Given the description of an element on the screen output the (x, y) to click on. 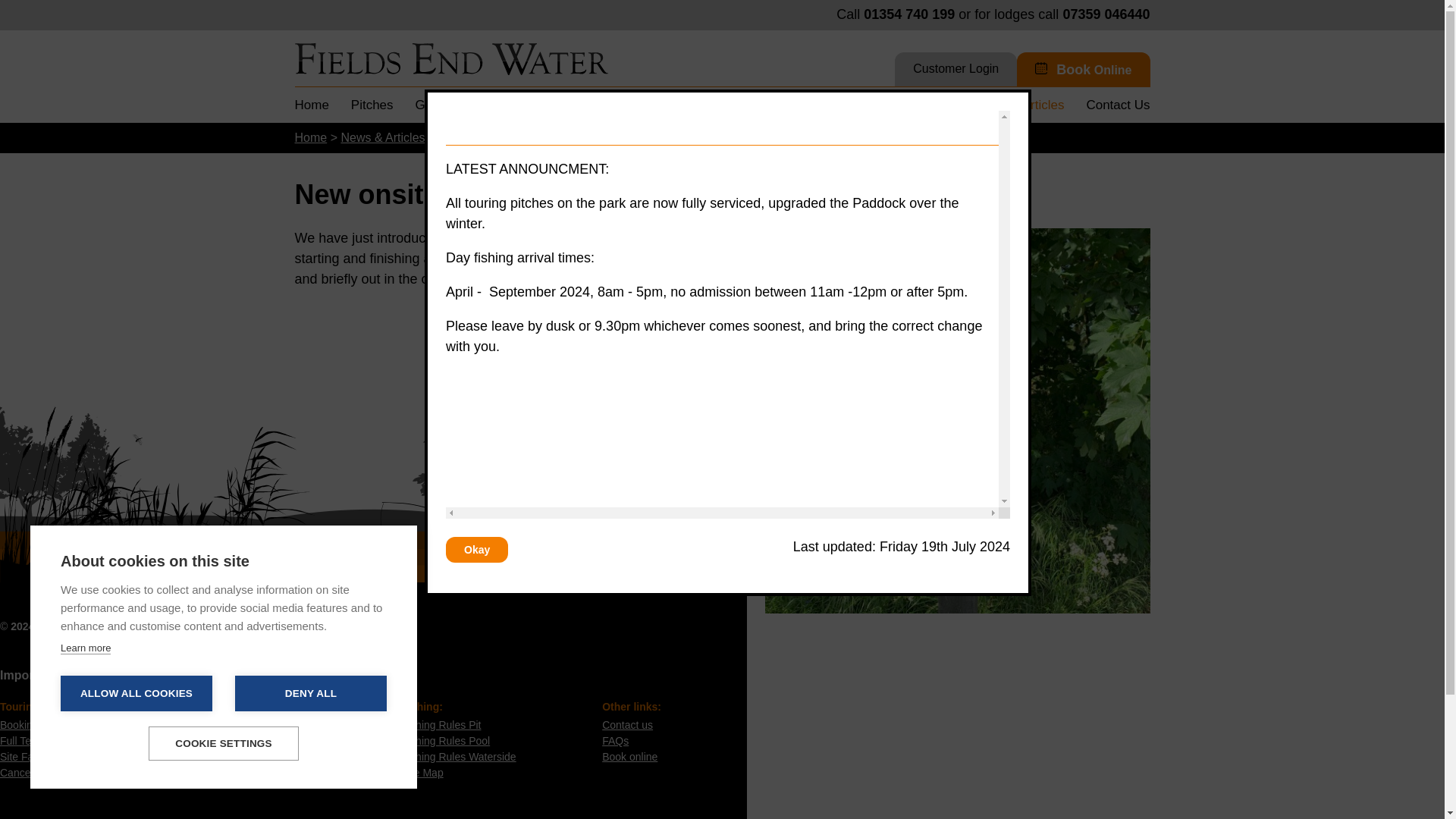
Learn more (85, 648)
Glamping Pods (458, 104)
COOKIE SETTINGS (223, 743)
Privacy Policy (165, 625)
DENY ALL (310, 693)
ALLOW ALL COOKIES (136, 693)
Home (311, 104)
Pitches (371, 104)
Customer Login (955, 71)
Book Online (1083, 73)
